Given the description of an element on the screen output the (x, y) to click on. 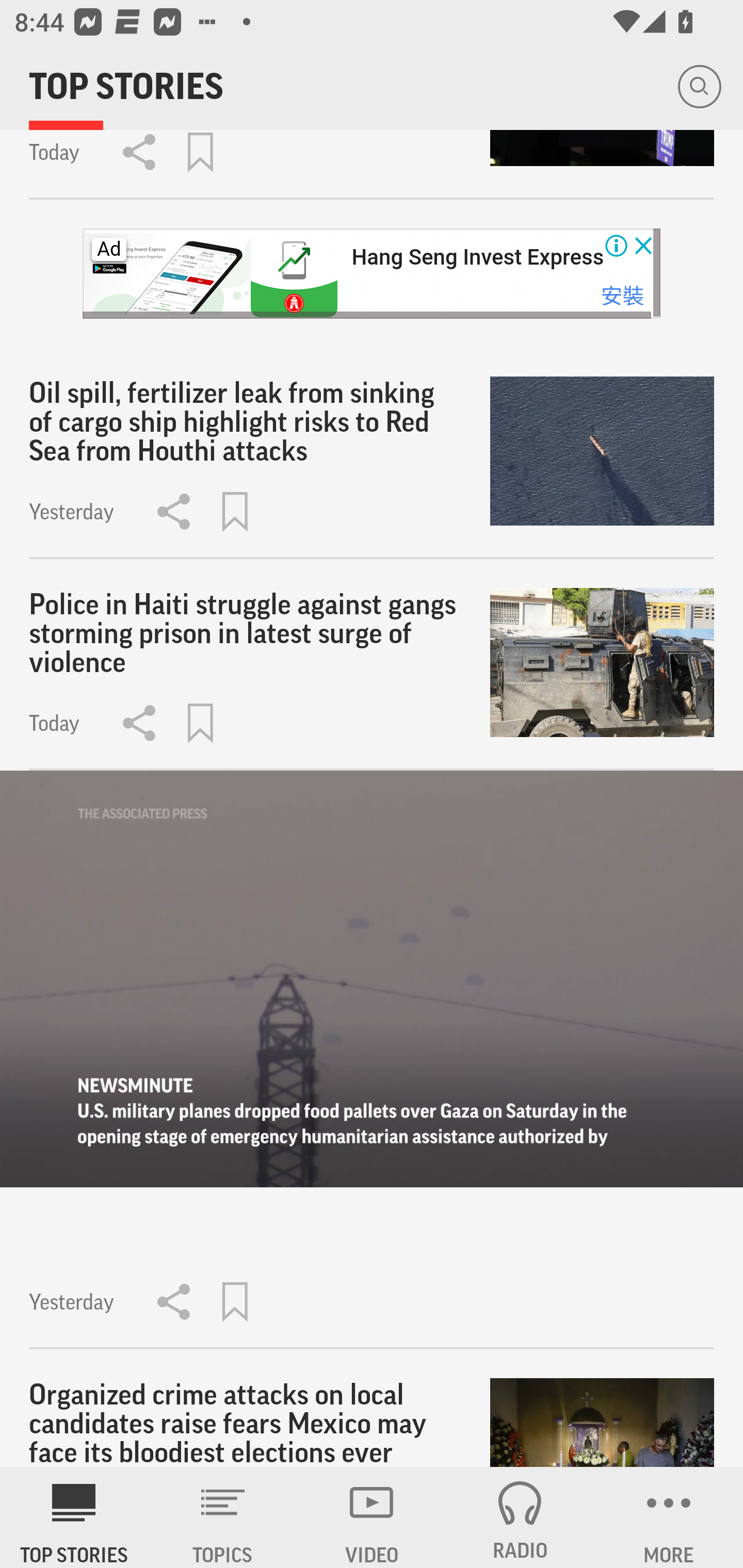
Hang Seng Invest Express (476, 257)
安裝 (621, 295)
toggle controls Yesterday (371, 1059)
toggle controls (371, 977)
AP News TOP STORIES (74, 1517)
TOPICS (222, 1517)
VIDEO (371, 1517)
RADIO (519, 1517)
MORE (668, 1517)
